Given the description of an element on the screen output the (x, y) to click on. 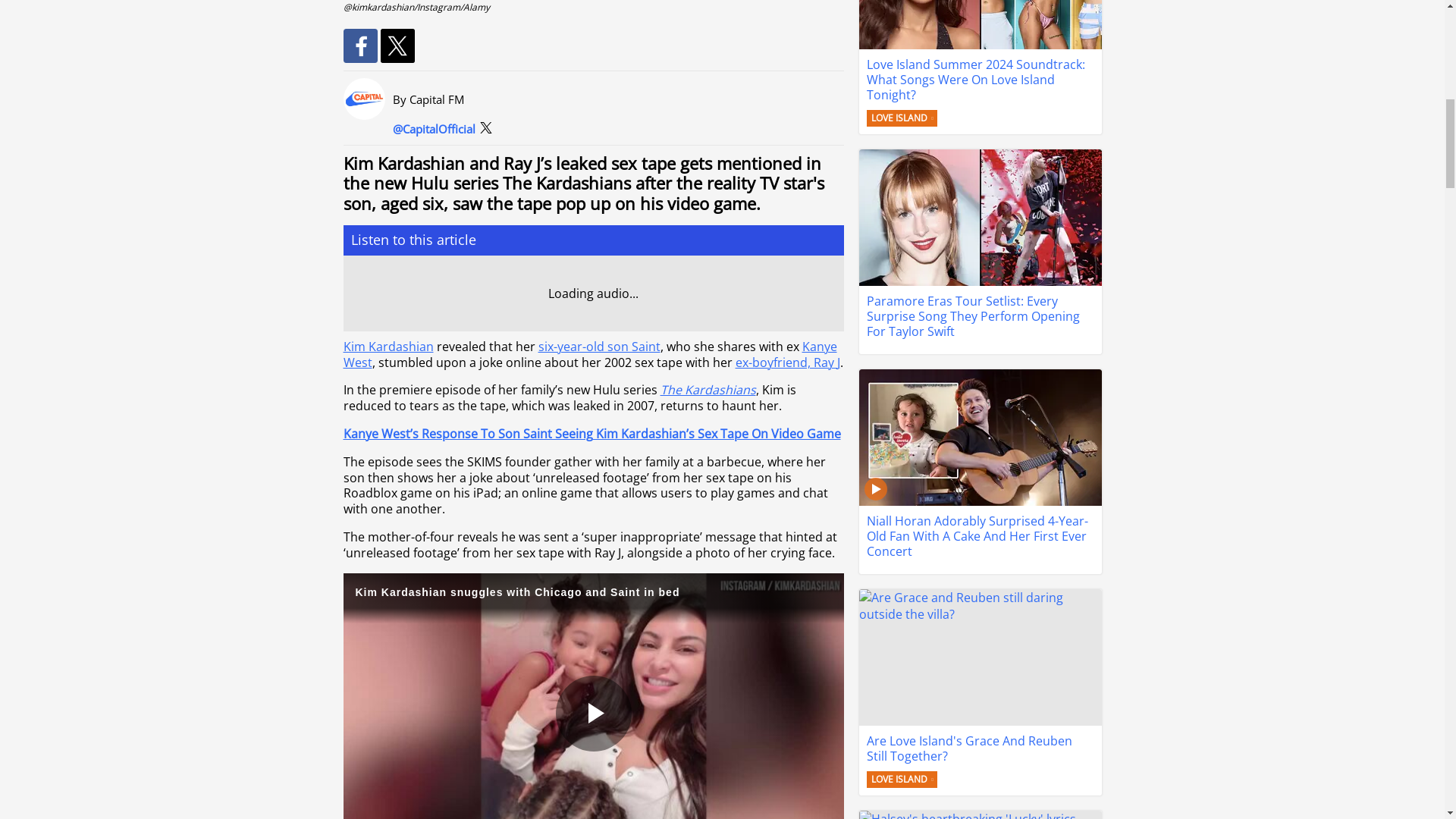
Follow Capital FM on X (434, 128)
